Given the description of an element on the screen output the (x, y) to click on. 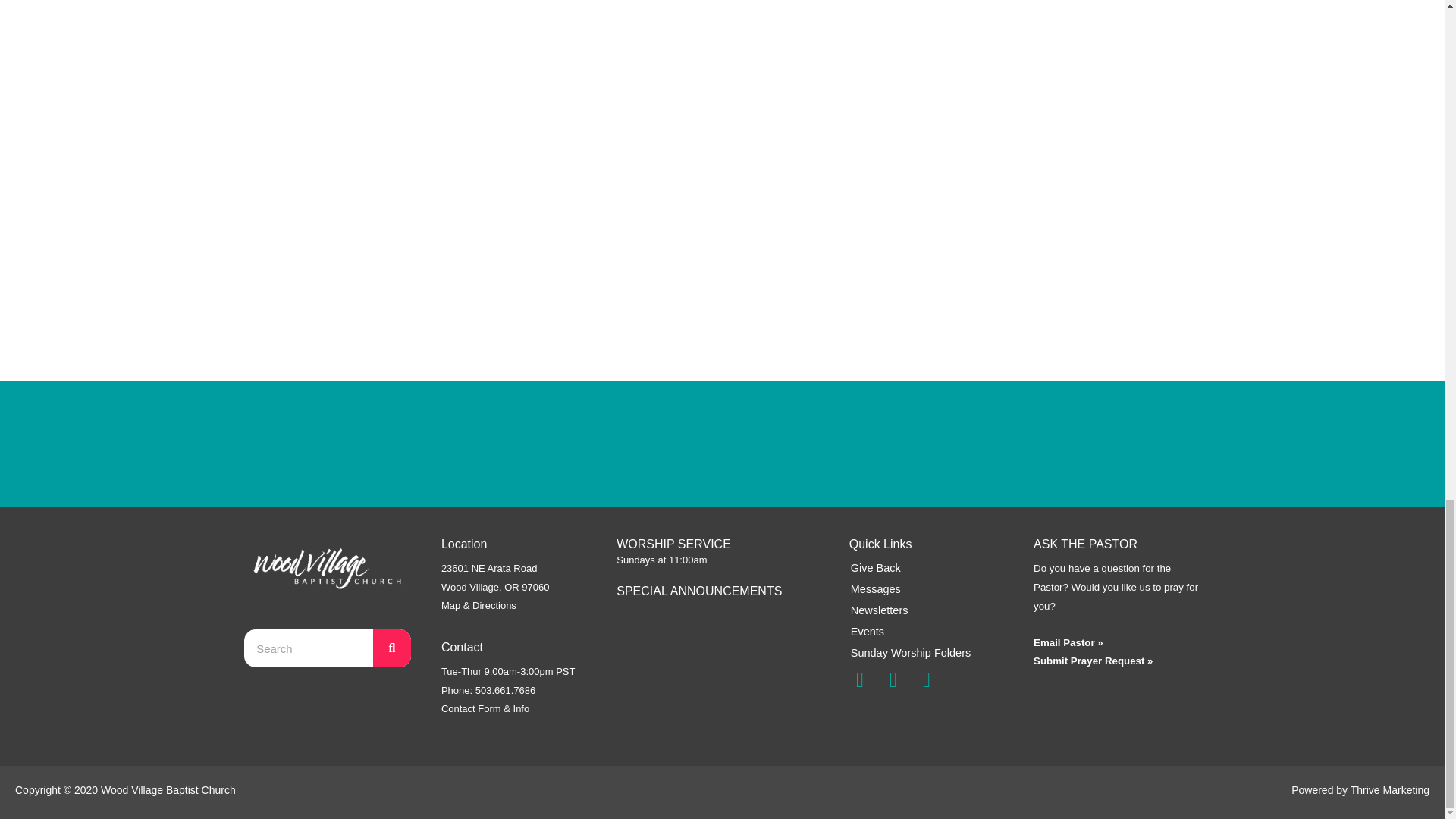
Facebook (859, 680)
Search (308, 648)
YouTube (926, 680)
Instagram (893, 680)
